Given the description of an element on the screen output the (x, y) to click on. 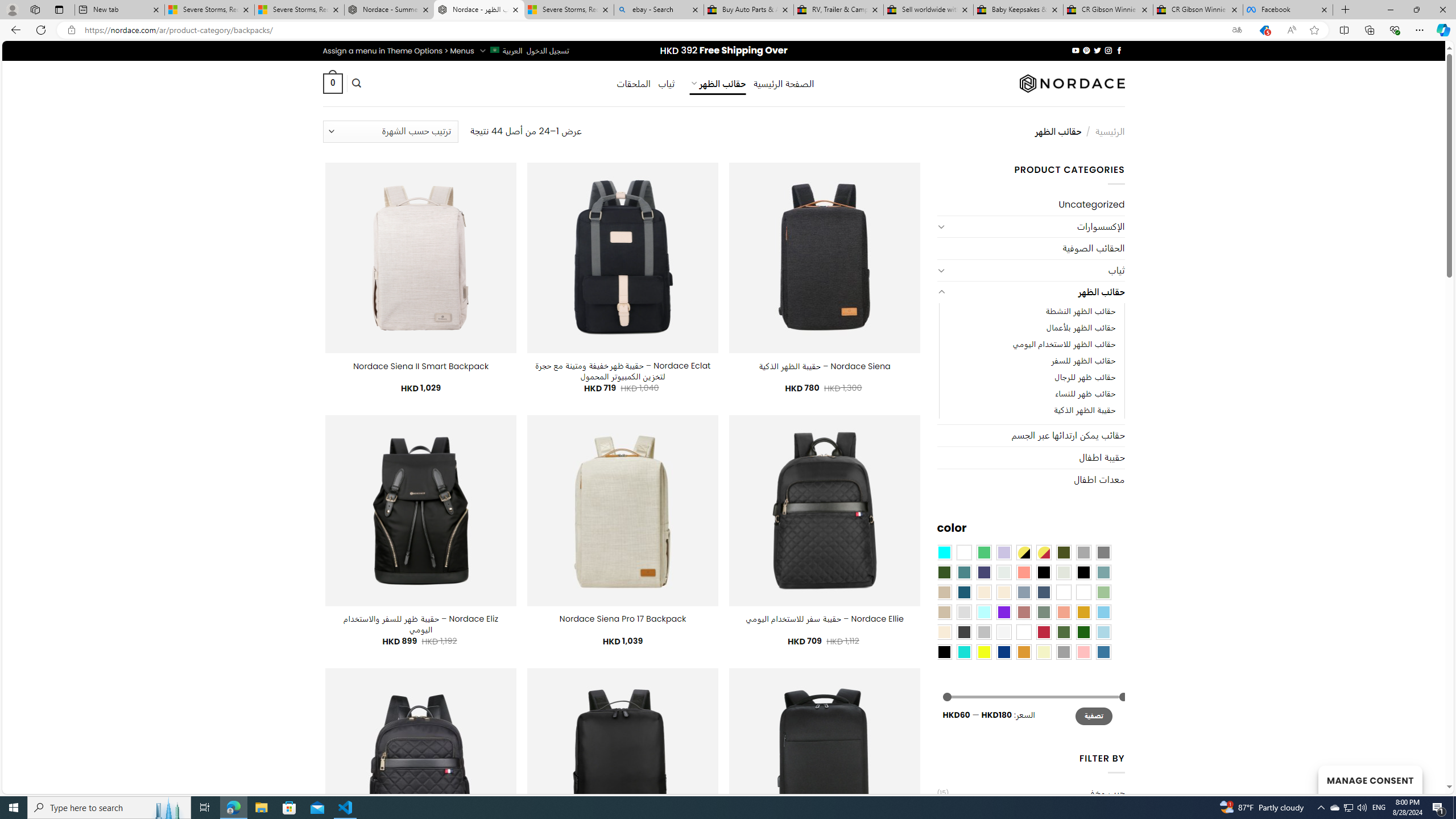
Light Purple (1003, 551)
Light Taupe (944, 611)
Sell worldwide with eBay (928, 9)
RV, Trailer & Camper Steps & Ladders for sale | eBay (838, 9)
MANAGE CONSENT (1369, 779)
